Given the description of an element on the screen output the (x, y) to click on. 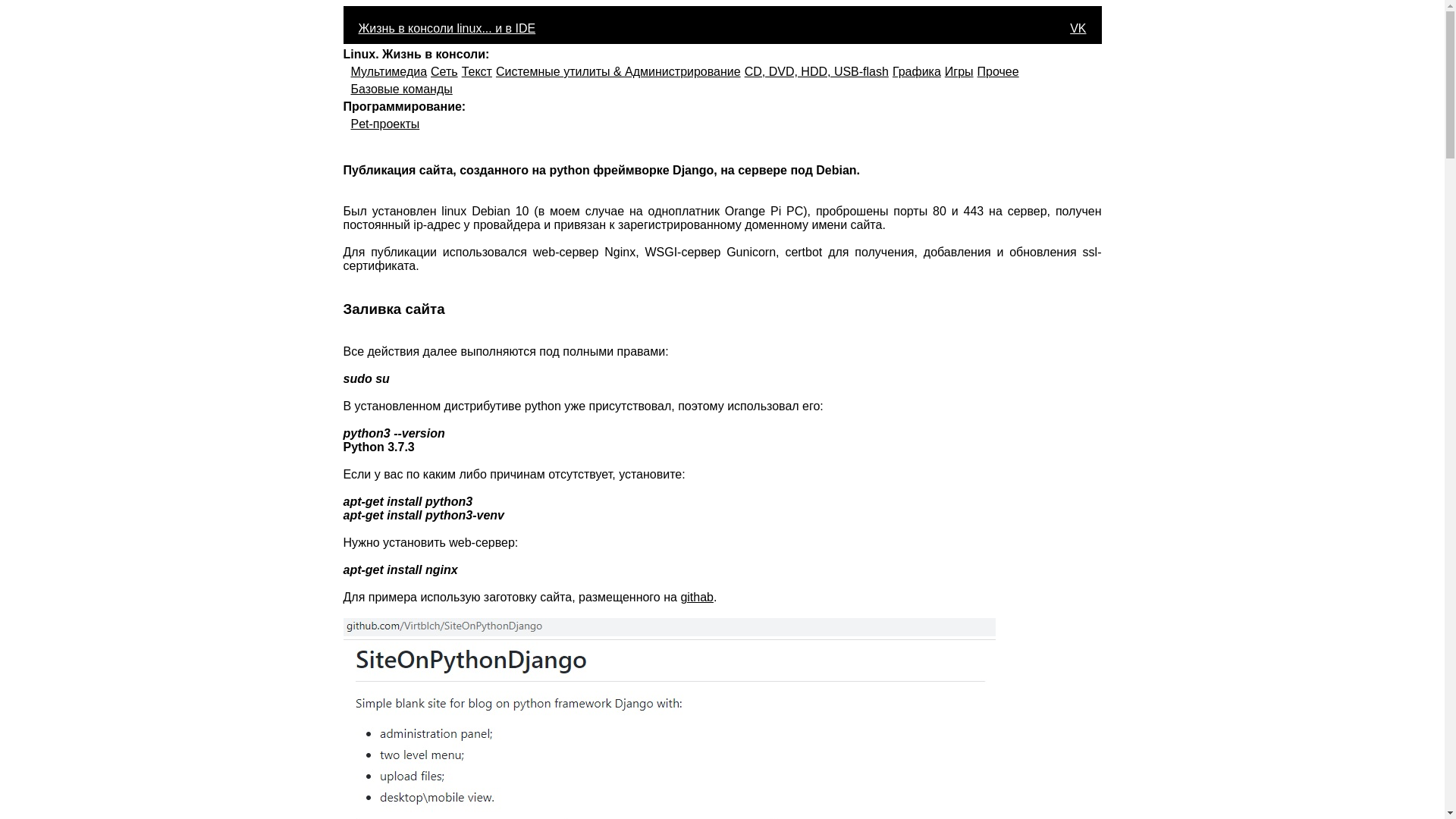
githab Element type: text (696, 596)
VK Element type: text (1077, 27)
CD, DVD, HDD, USB-flash Element type: text (816, 71)
